Given the description of an element on the screen output the (x, y) to click on. 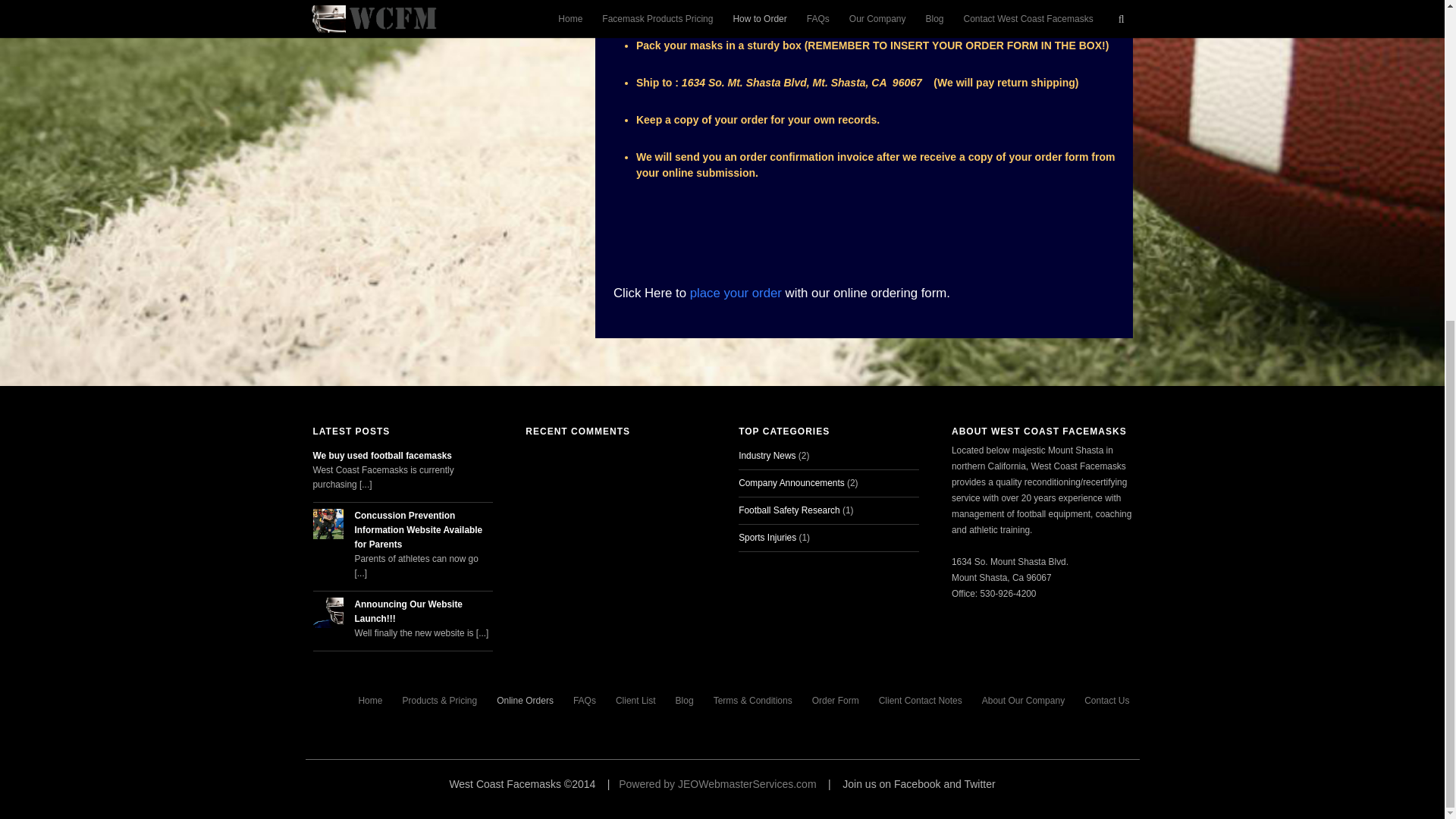
Home (369, 700)
Company Announcements (791, 482)
We buy used football facemasks (402, 455)
FAQs (584, 700)
place your order (735, 292)
Client List (635, 700)
Sports Injuries (767, 537)
Online Orders (524, 700)
Blog (684, 700)
